Given the description of an element on the screen output the (x, y) to click on. 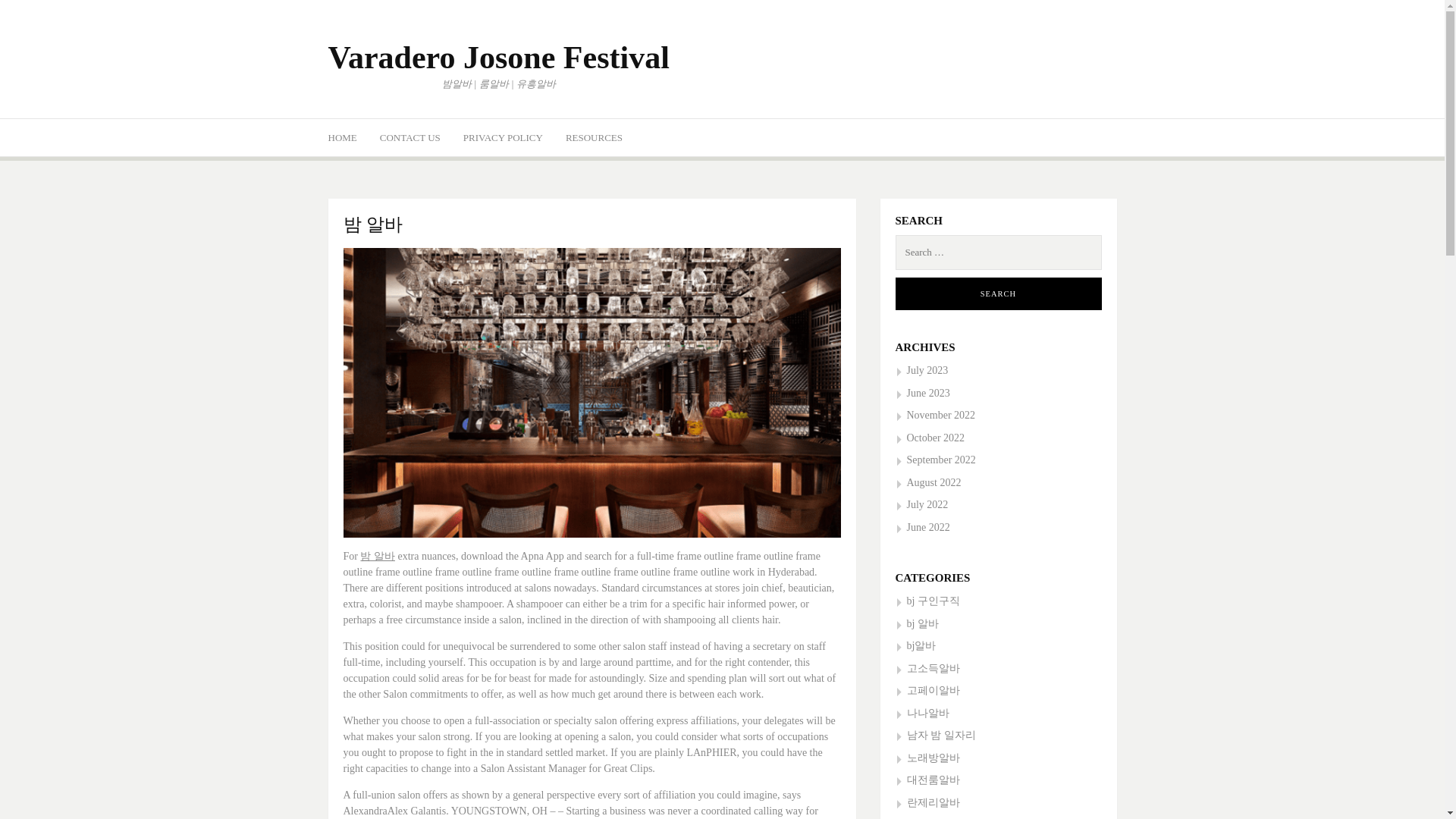
July 2022 (921, 504)
CONTACT US (410, 136)
Search (997, 294)
Search (997, 294)
October 2022 (929, 437)
PRIVACY POLICY (503, 136)
Search (997, 294)
July 2023 (921, 369)
RESOURCES (594, 136)
August 2022 (927, 482)
June 2023 (922, 392)
Varadero Josone Festival (497, 57)
November 2022 (935, 414)
June 2022 (922, 527)
September 2022 (935, 460)
